Given the description of an element on the screen output the (x, y) to click on. 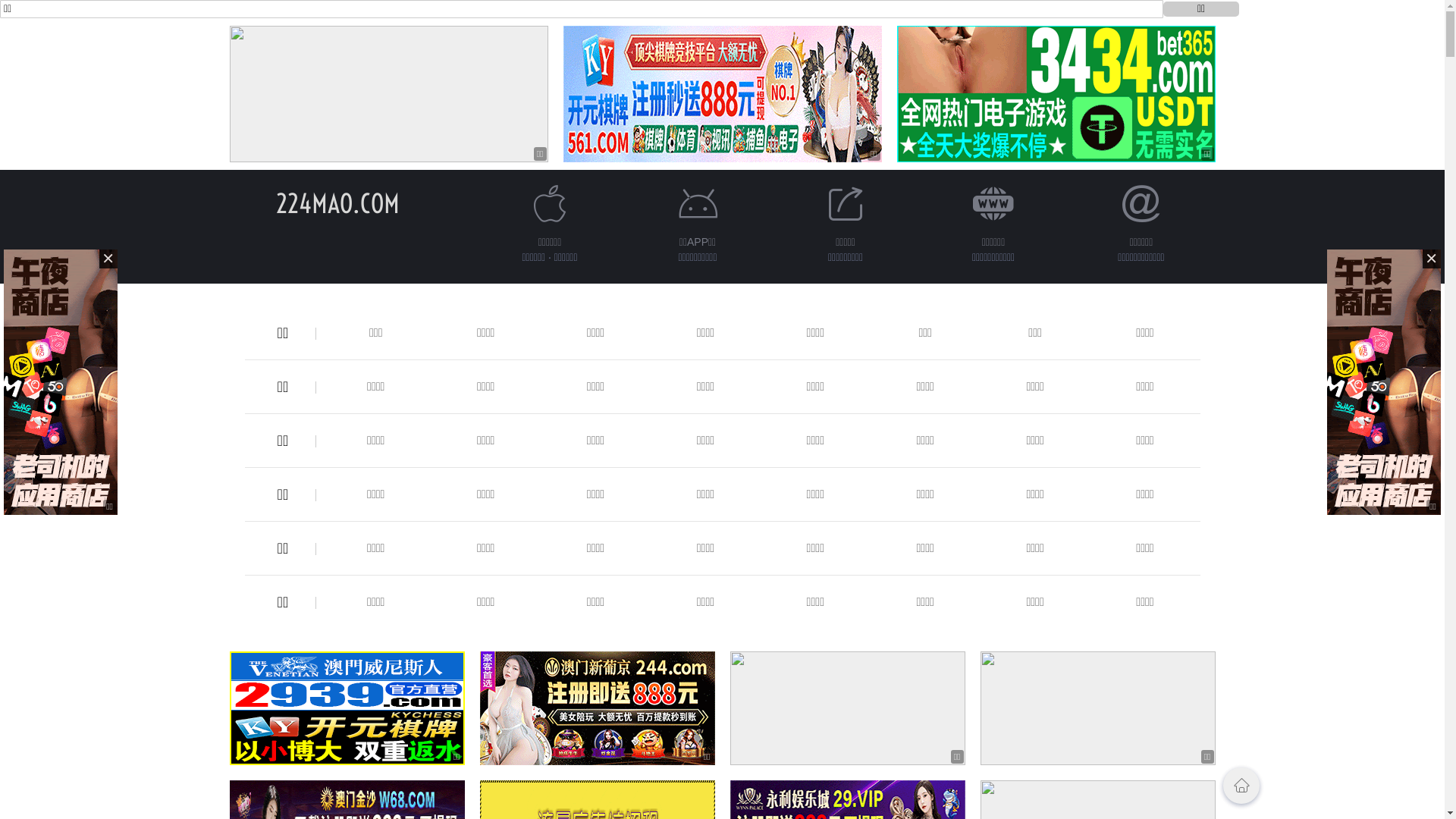
224MAO.COM Element type: text (337, 203)
